Given the description of an element on the screen output the (x, y) to click on. 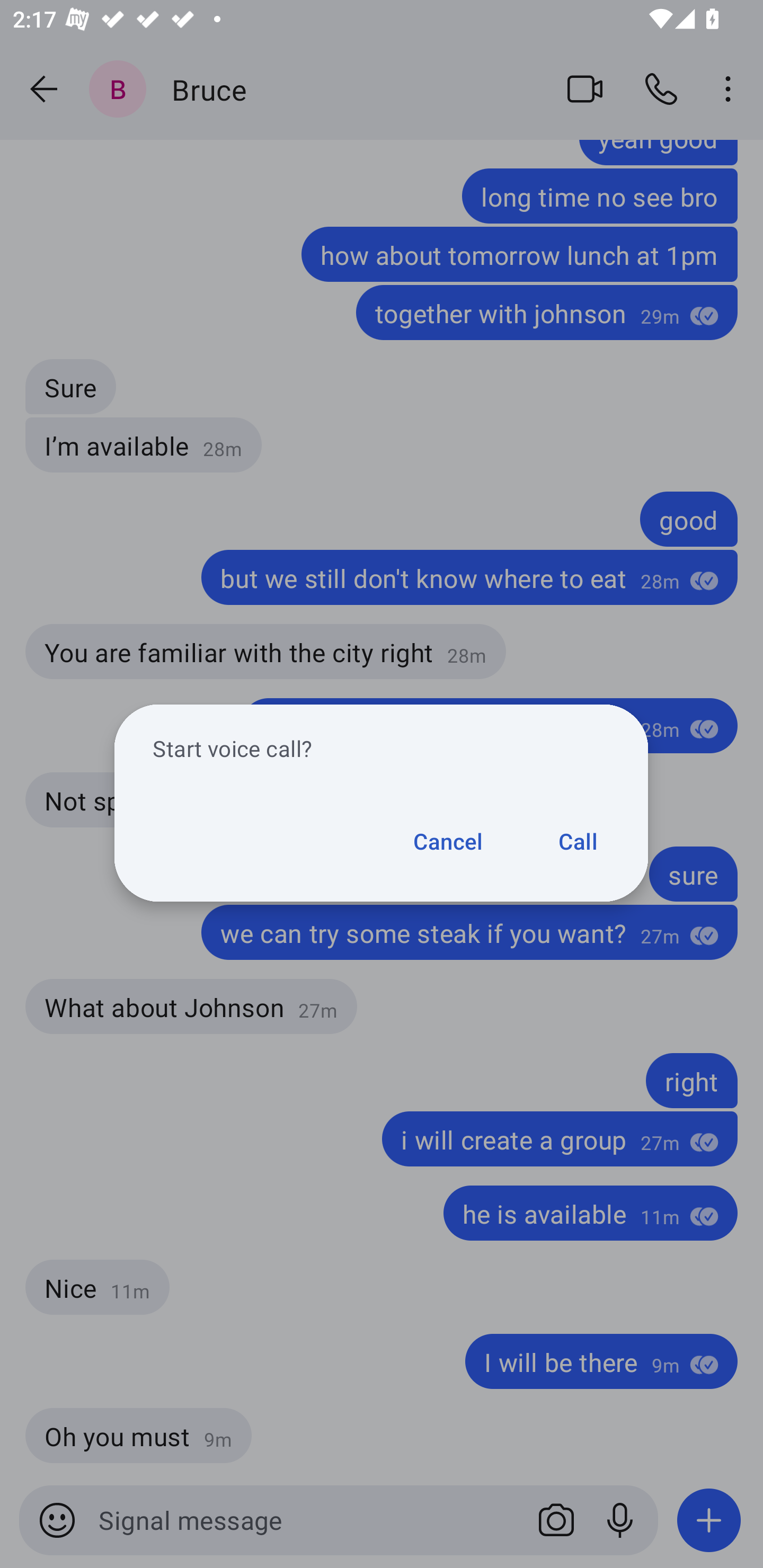
Call (558, 840)
